Given the description of an element on the screen output the (x, y) to click on. 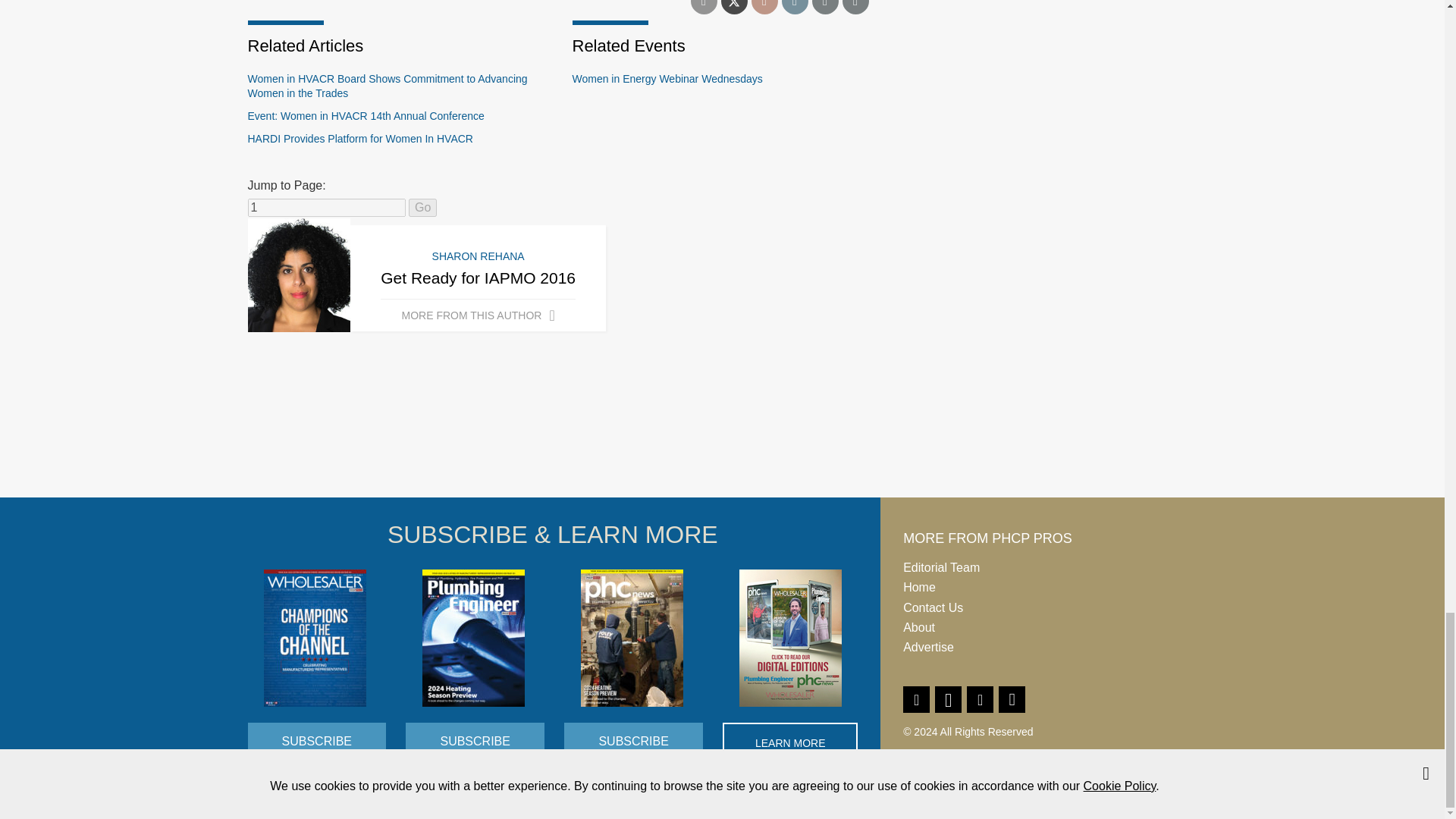
Go (422, 208)
3rd party ad content (721, 440)
1 (325, 208)
